Given the description of an element on the screen output the (x, y) to click on. 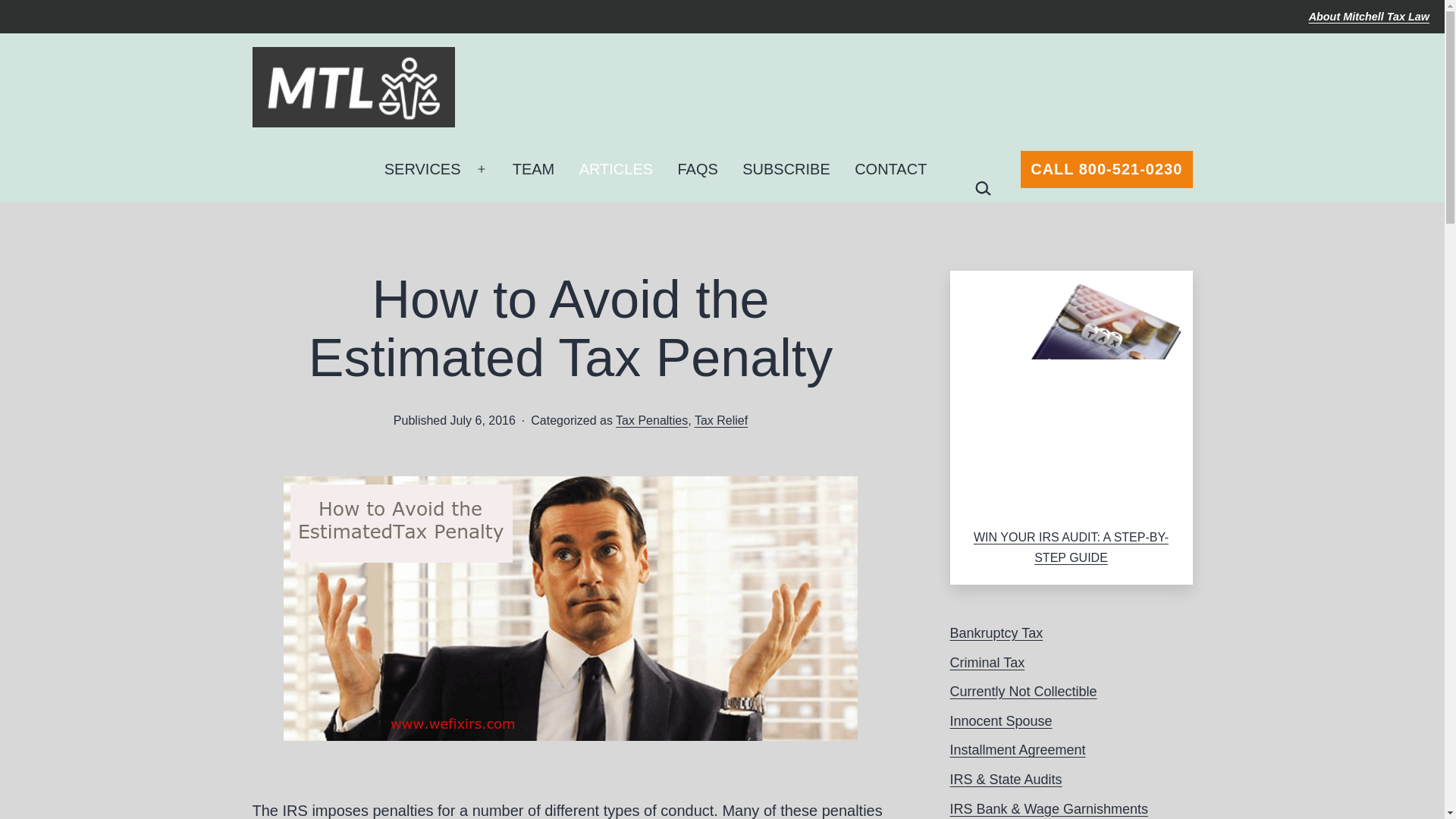
CONTACT (890, 168)
Innocent Spouse (1000, 720)
About Mitchell Tax Law (1368, 17)
FAQS (697, 168)
Bankruptcy Tax (995, 632)
SUBSCRIBE (786, 168)
WIN YOUR IRS AUDIT: A STEP-BY-STEP GUIDE (1071, 547)
SERVICES (422, 168)
Criminal Tax (987, 662)
Installment Agreement (1016, 749)
